Given the description of an element on the screen output the (x, y) to click on. 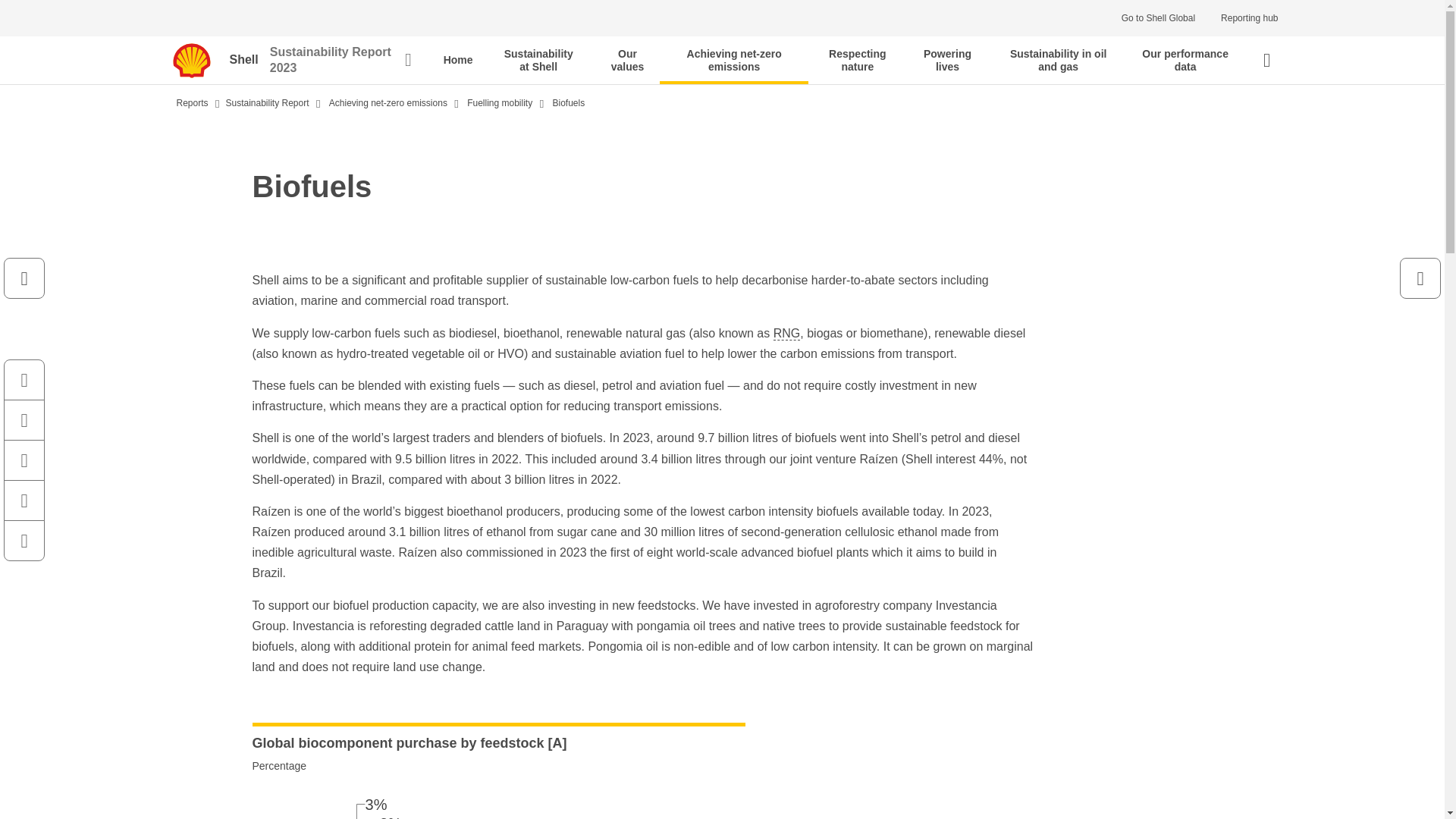
Go to Shell Global (1158, 18)
Sustainability Report 2023 (340, 60)
Sustainability at Shell (538, 60)
Home (457, 60)
Shell (248, 60)
Reporting hub (1249, 18)
Our values (627, 60)
